Given the description of an element on the screen output the (x, y) to click on. 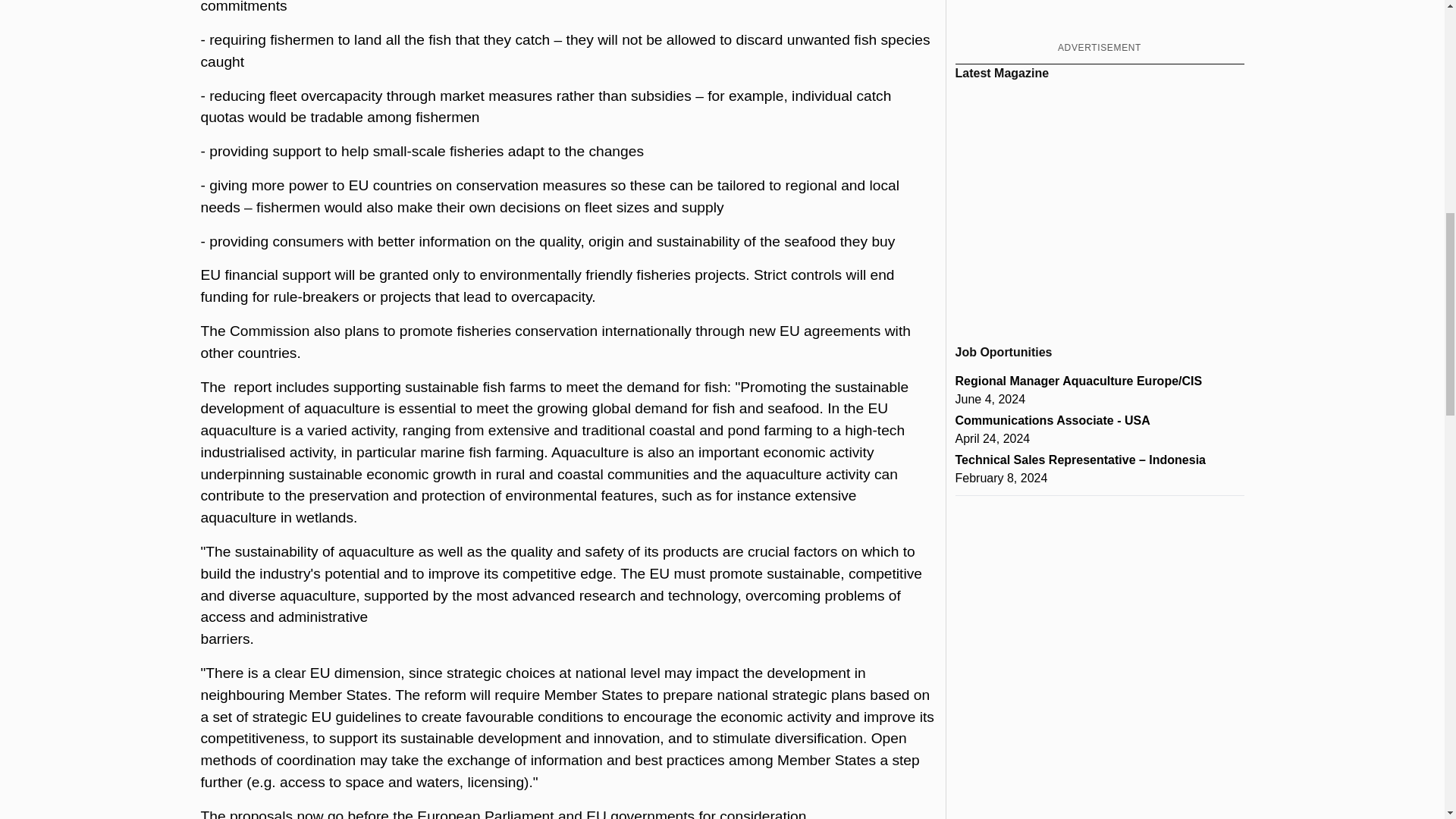
Magazine viewer (1099, 206)
3rd party ad content (1098, 18)
